Given the description of an element on the screen output the (x, y) to click on. 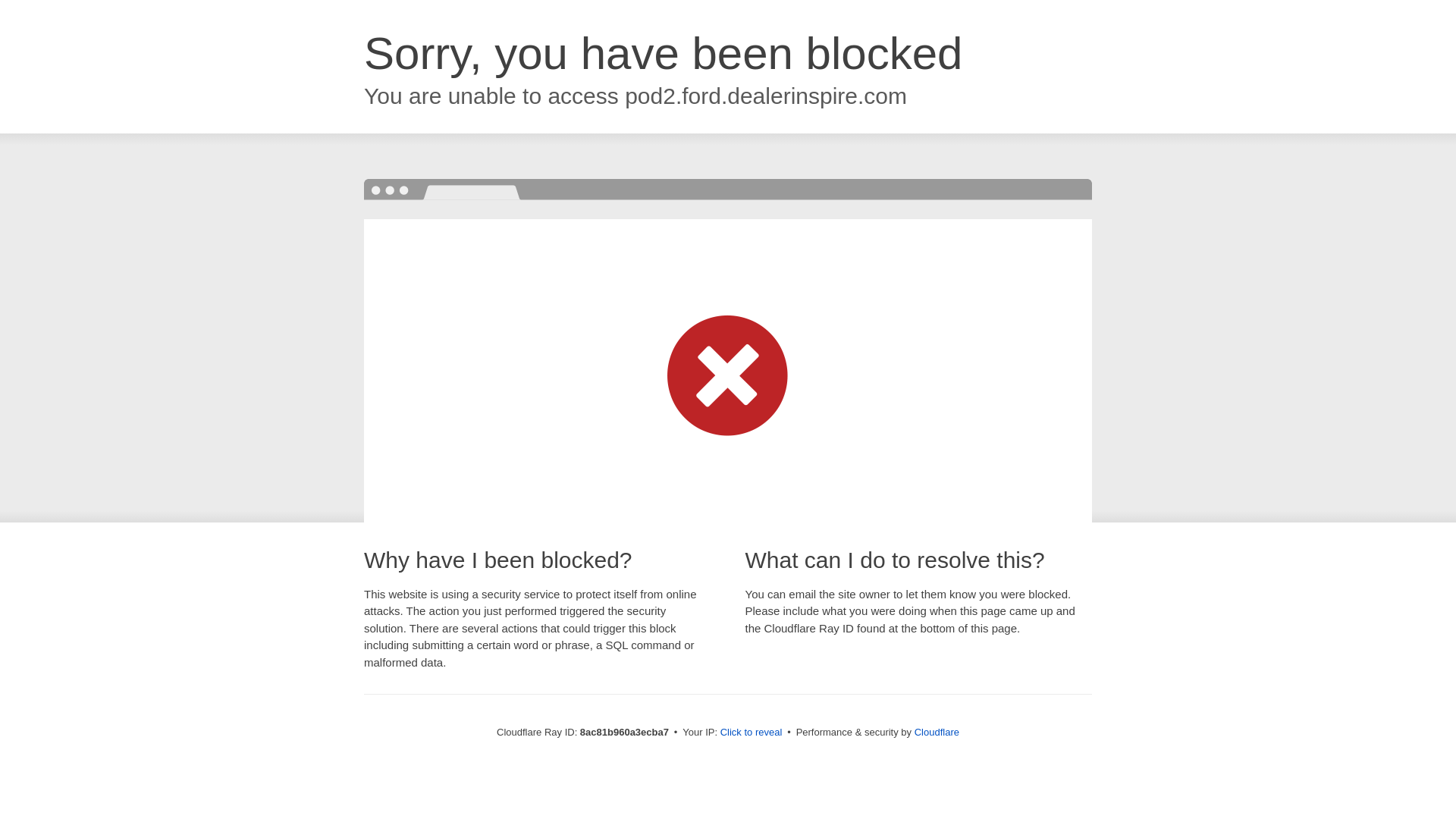
Click to reveal (751, 732)
Cloudflare (936, 731)
